Given the description of an element on the screen output the (x, y) to click on. 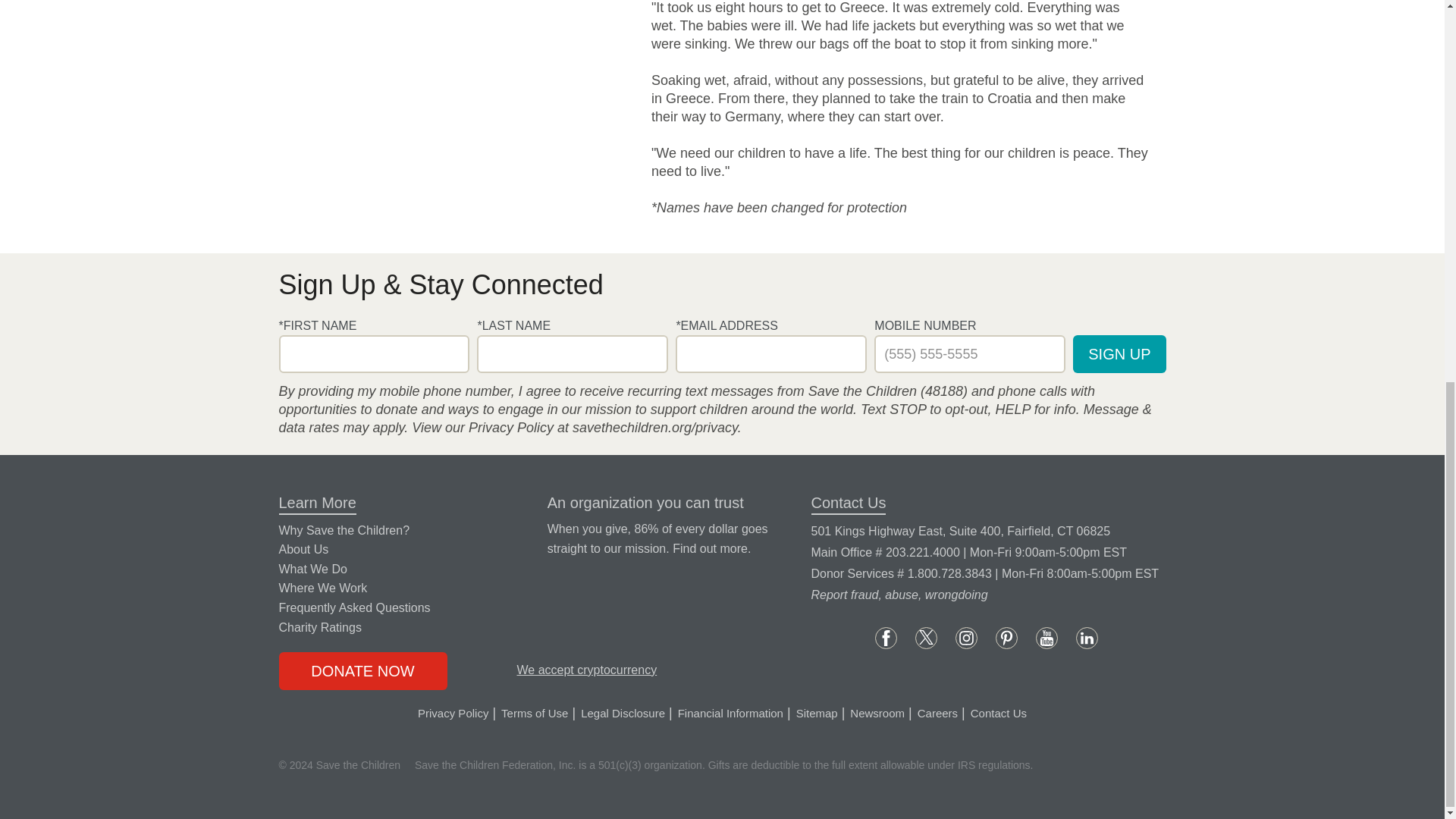
twitter (926, 638)
facebook (885, 638)
Sign Up (1119, 353)
pie-chart (511, 525)
pinterest (1006, 638)
youtube (1046, 638)
instagram (965, 638)
Financial Information (710, 548)
